Given the description of an element on the screen output the (x, y) to click on. 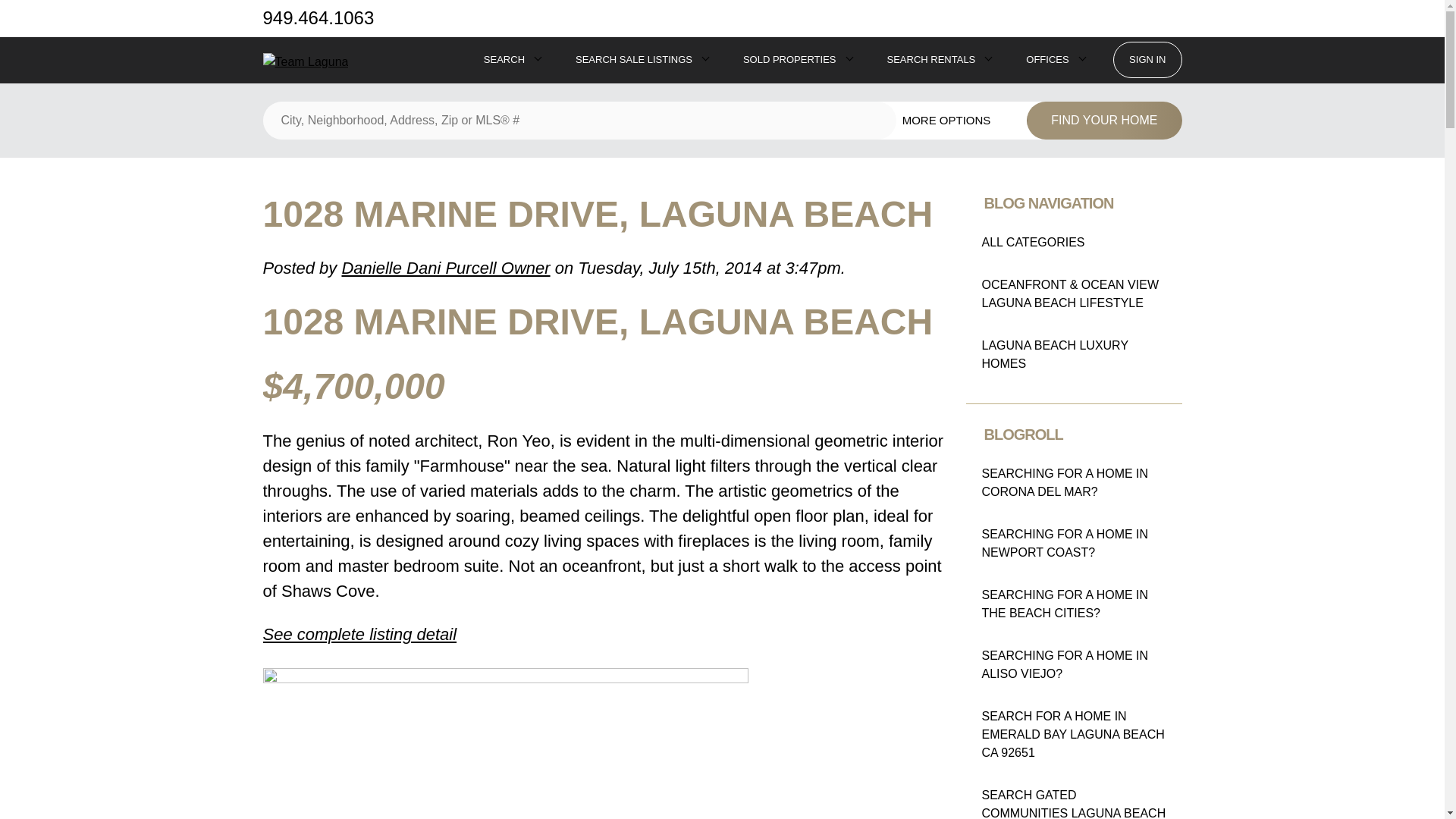
OFFICES (1047, 59)
SEARCH RENTALS (930, 59)
SIGN IN (1146, 59)
SEARCH SALE LISTINGS (633, 59)
SOLD PROPERTIES (788, 59)
949.464.1063 (318, 17)
Sign in to your account (1146, 59)
SEARCH (503, 59)
Site Logo (304, 62)
